Given the description of an element on the screen output the (x, y) to click on. 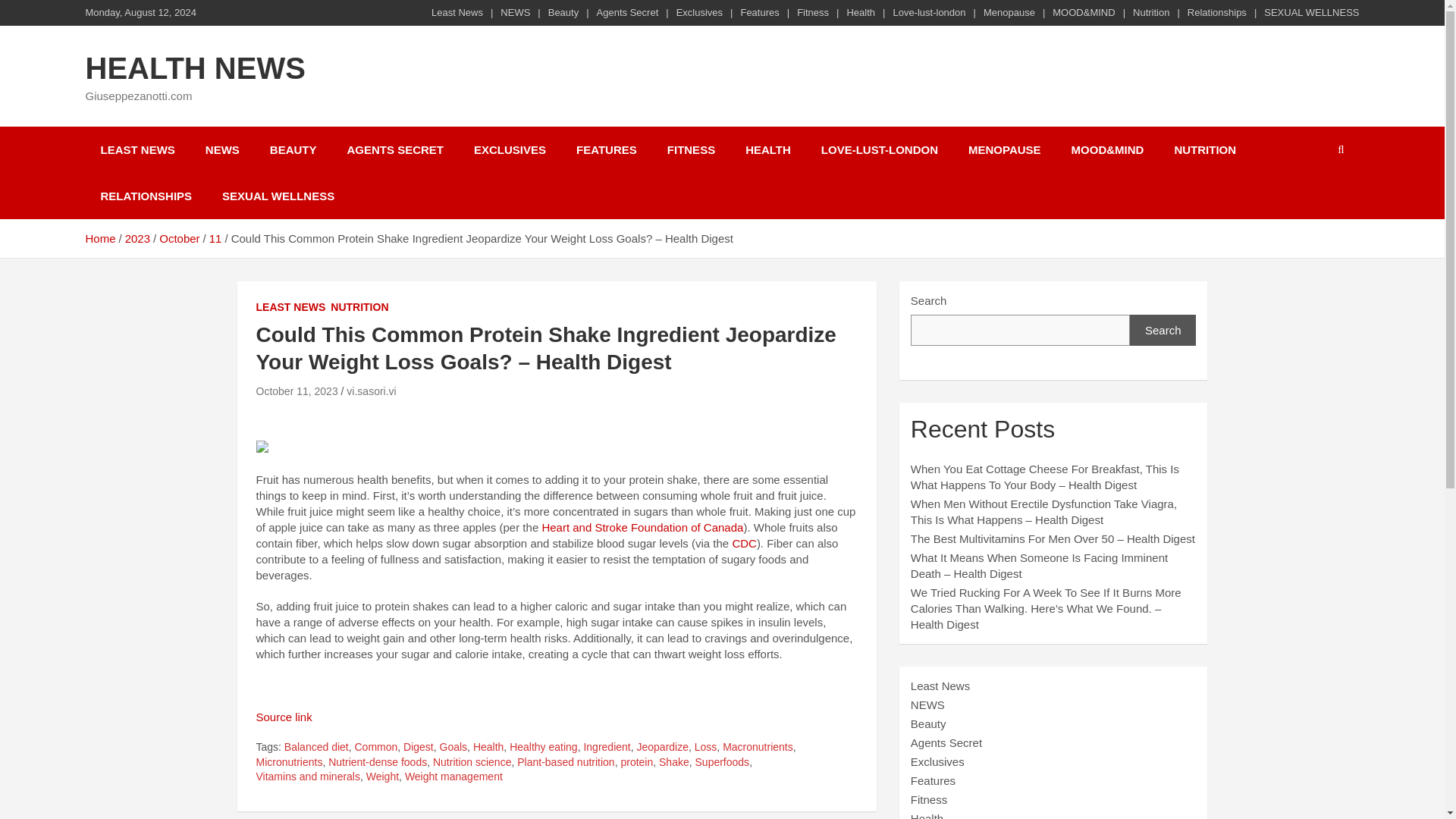
FITNESS (691, 149)
Menopause (1009, 12)
LEAST NEWS (291, 307)
NUTRITION (1204, 149)
SEXUAL WELLNESS (1310, 12)
Relationships (1217, 12)
Exclusives (699, 12)
Beauty (563, 12)
NEWS (222, 149)
FEATURES (606, 149)
